Given the description of an element on the screen output the (x, y) to click on. 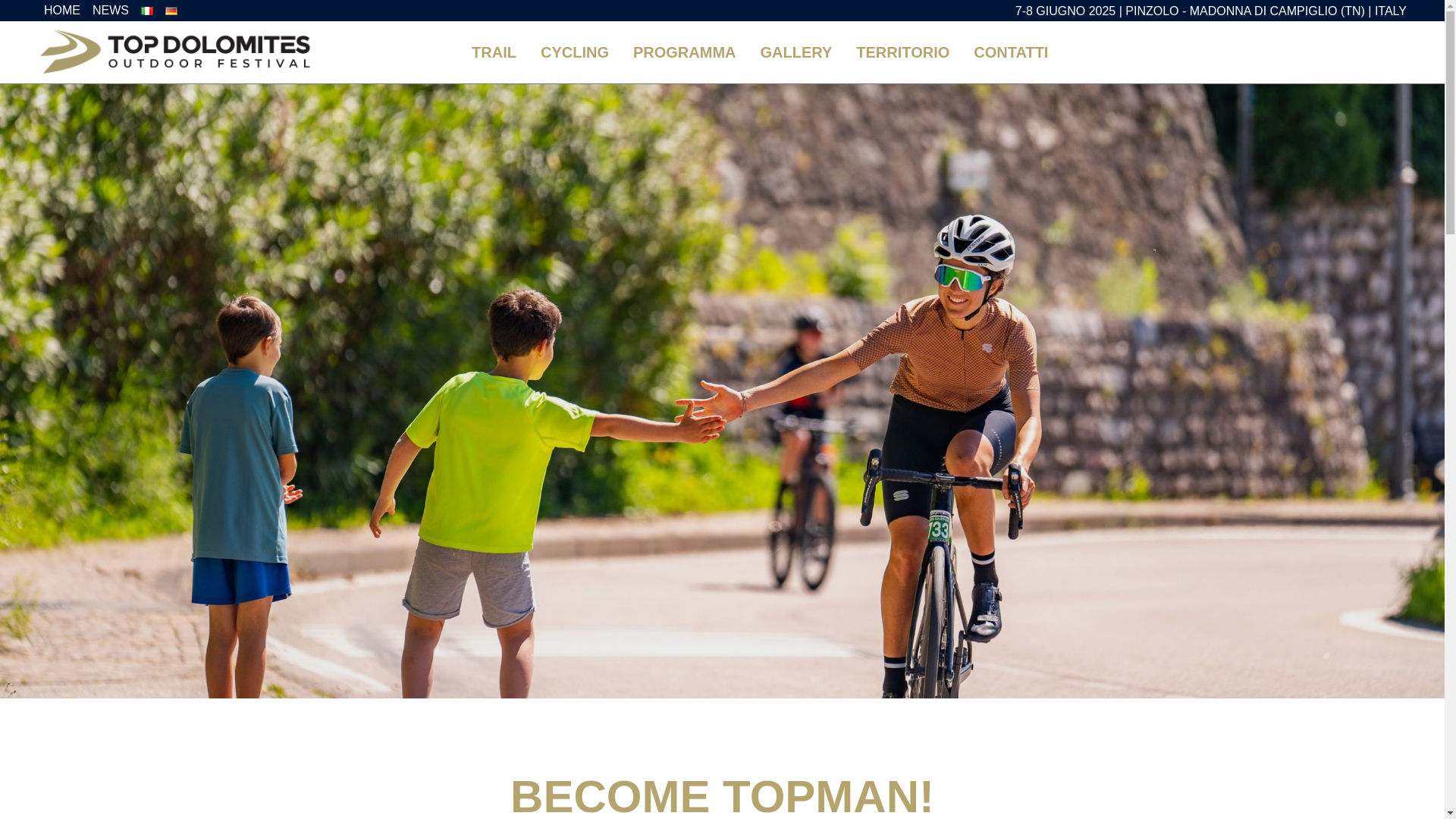
PROGRAMMA (684, 52)
GALLERY (796, 52)
TERRITORIO (902, 52)
HOME (61, 10)
NEWS (110, 10)
CYCLING (574, 52)
CONTATTI (1009, 52)
TRAIL (494, 52)
